Given the description of an element on the screen output the (x, y) to click on. 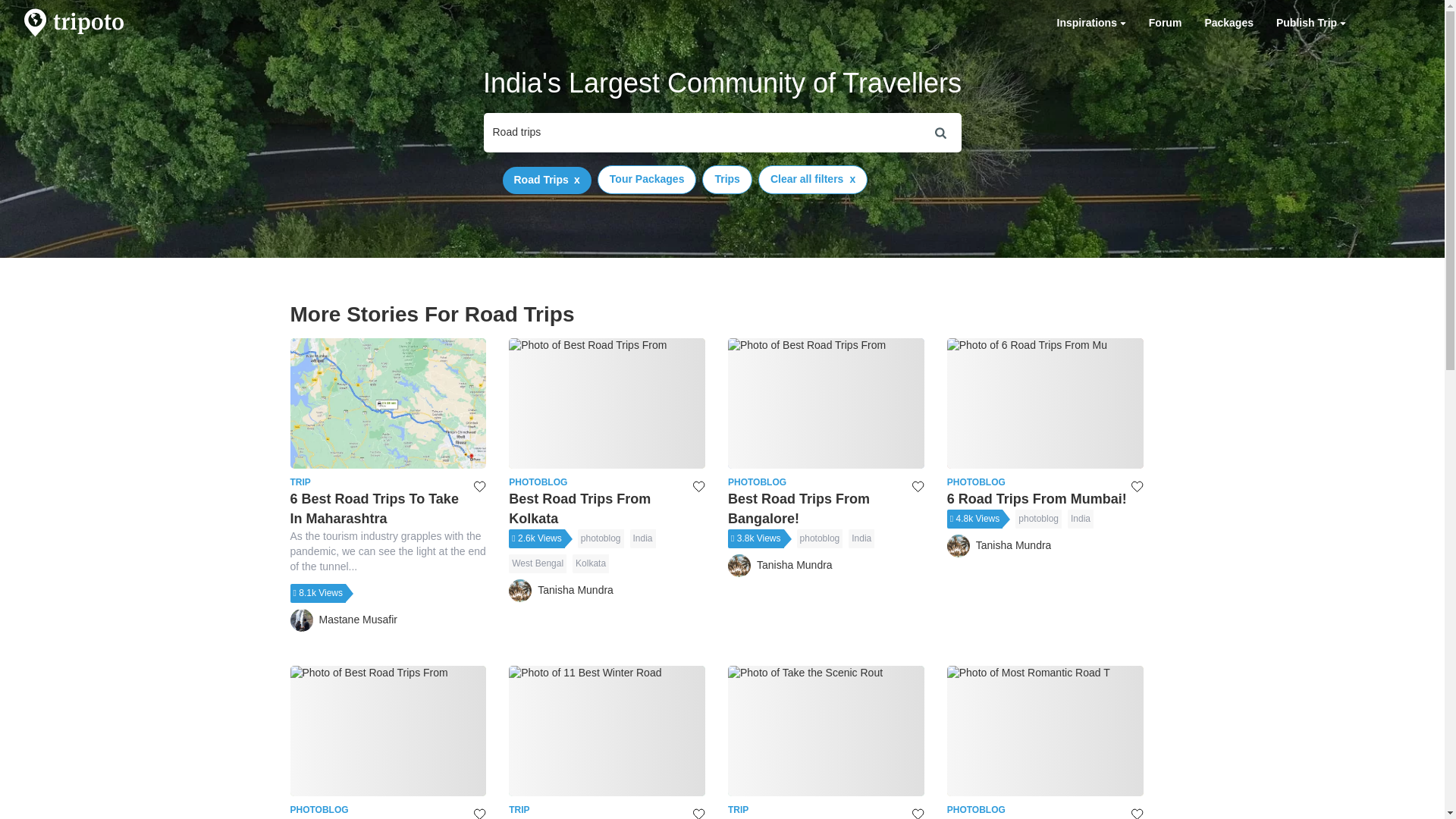
photoblog (819, 538)
Publish Trip (826, 508)
Inspirations (1310, 22)
Kolkata (1091, 22)
Mastane Musafir (606, 508)
Tanisha Mundra (590, 563)
India (342, 620)
Publish Trip  (780, 565)
Forum (861, 538)
West Bengal (1310, 22)
Packages (1044, 499)
India (1165, 22)
